Given the description of an element on the screen output the (x, y) to click on. 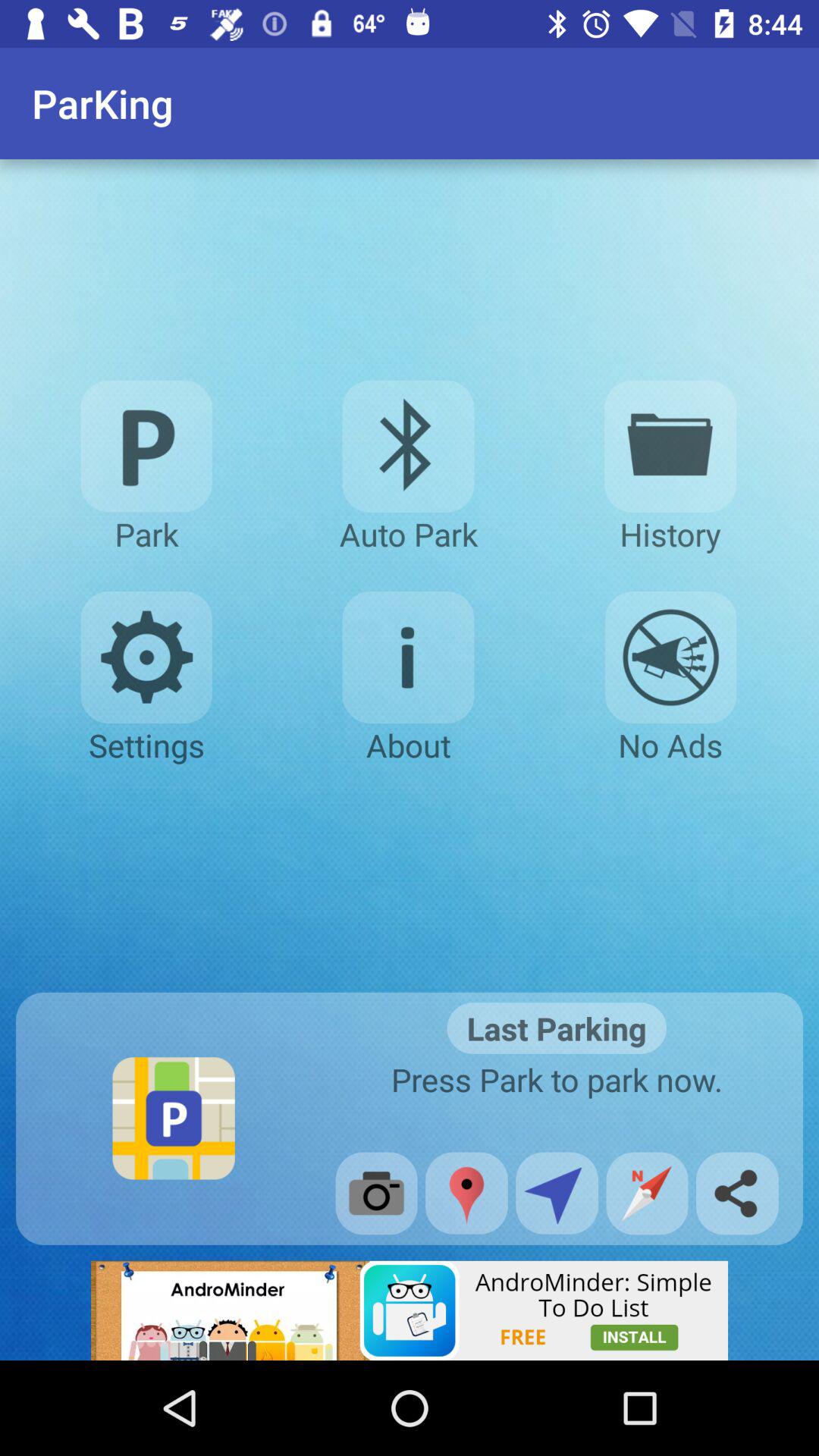
select settings option (146, 657)
